Given the description of an element on the screen output the (x, y) to click on. 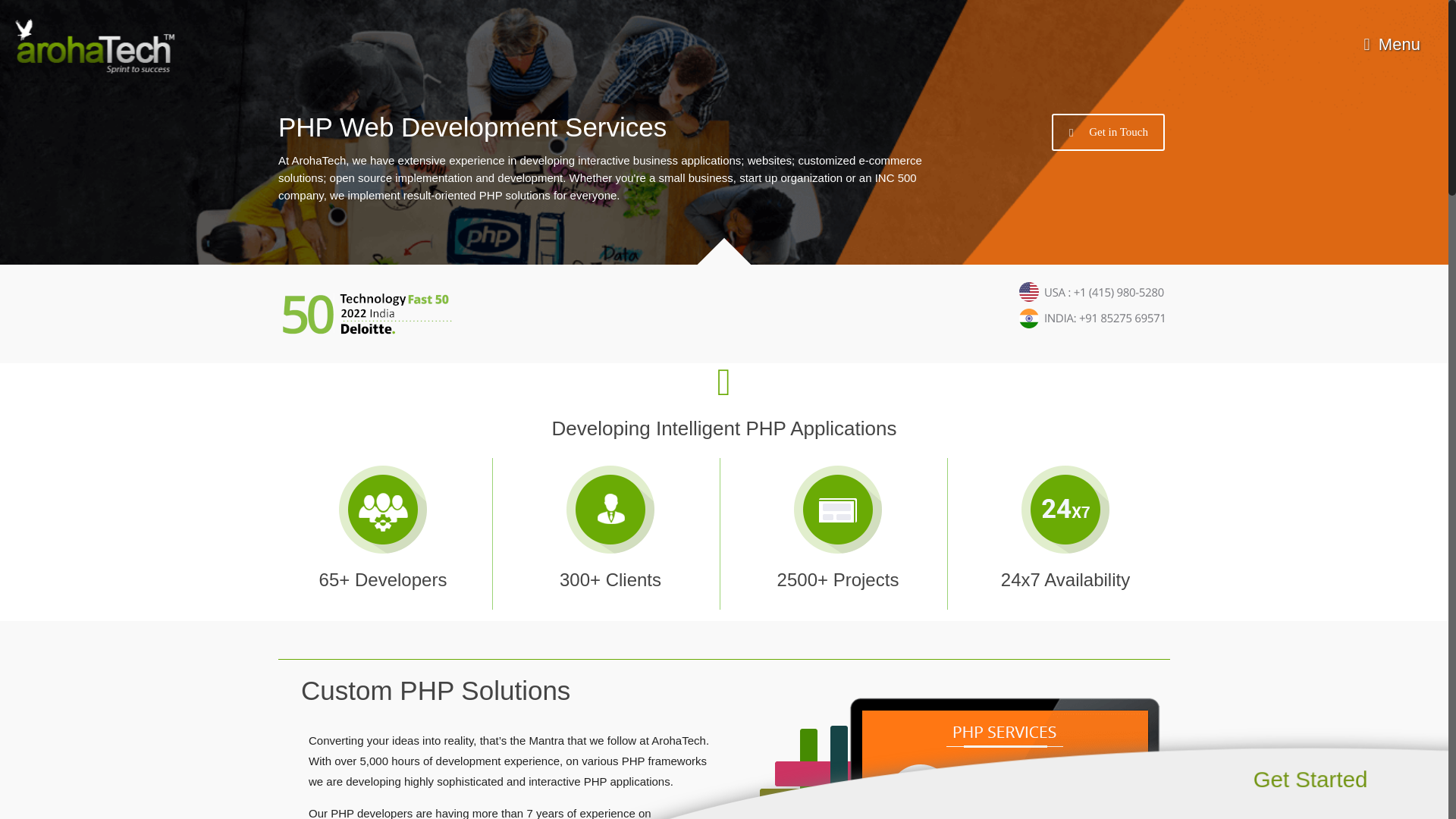
ArohaTech (94, 56)
